Given the description of an element on the screen output the (x, y) to click on. 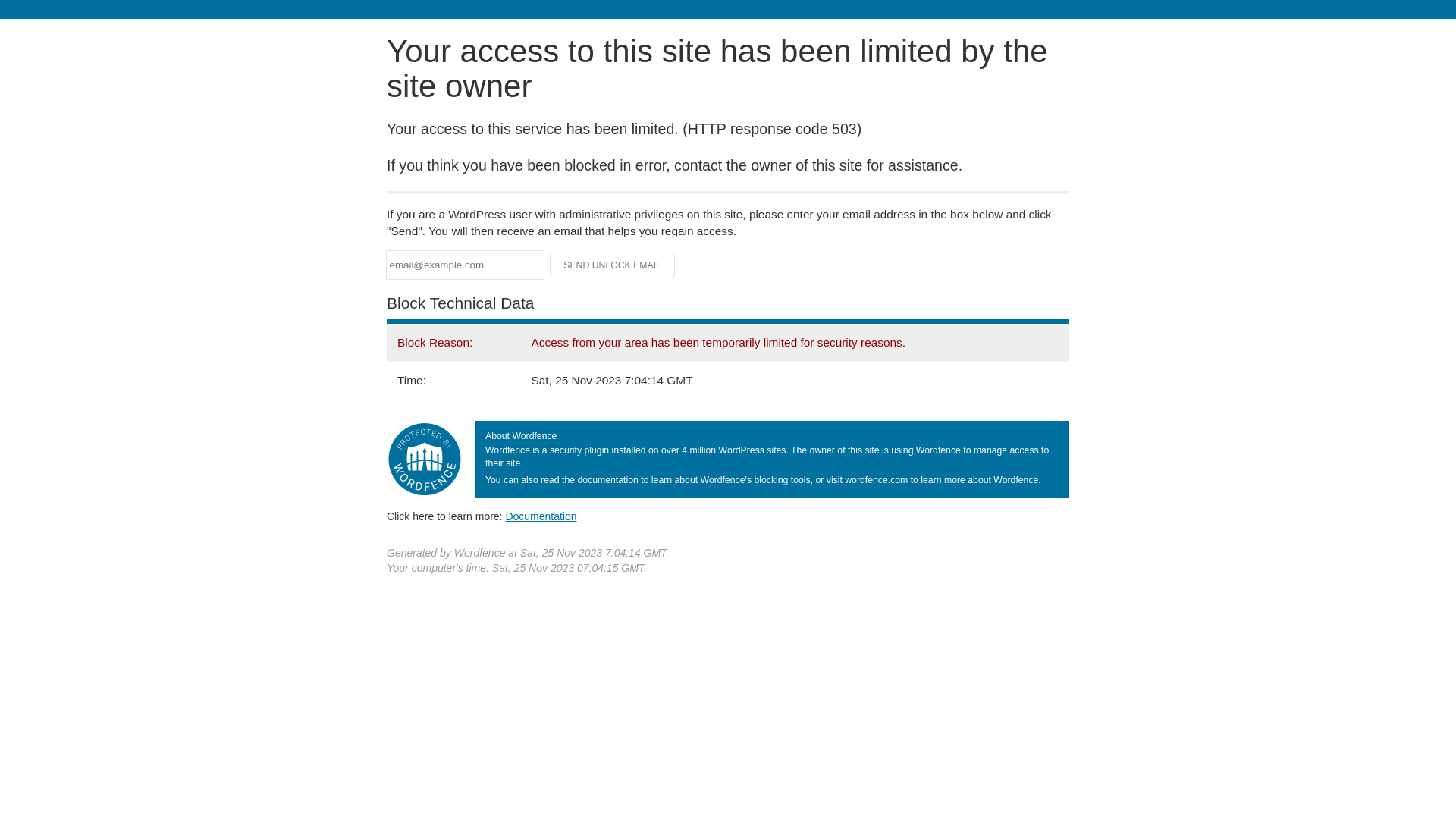
Documentation Element type: text (540, 516)
Send Unlock Email Element type: text (612, 265)
